Given the description of an element on the screen output the (x, y) to click on. 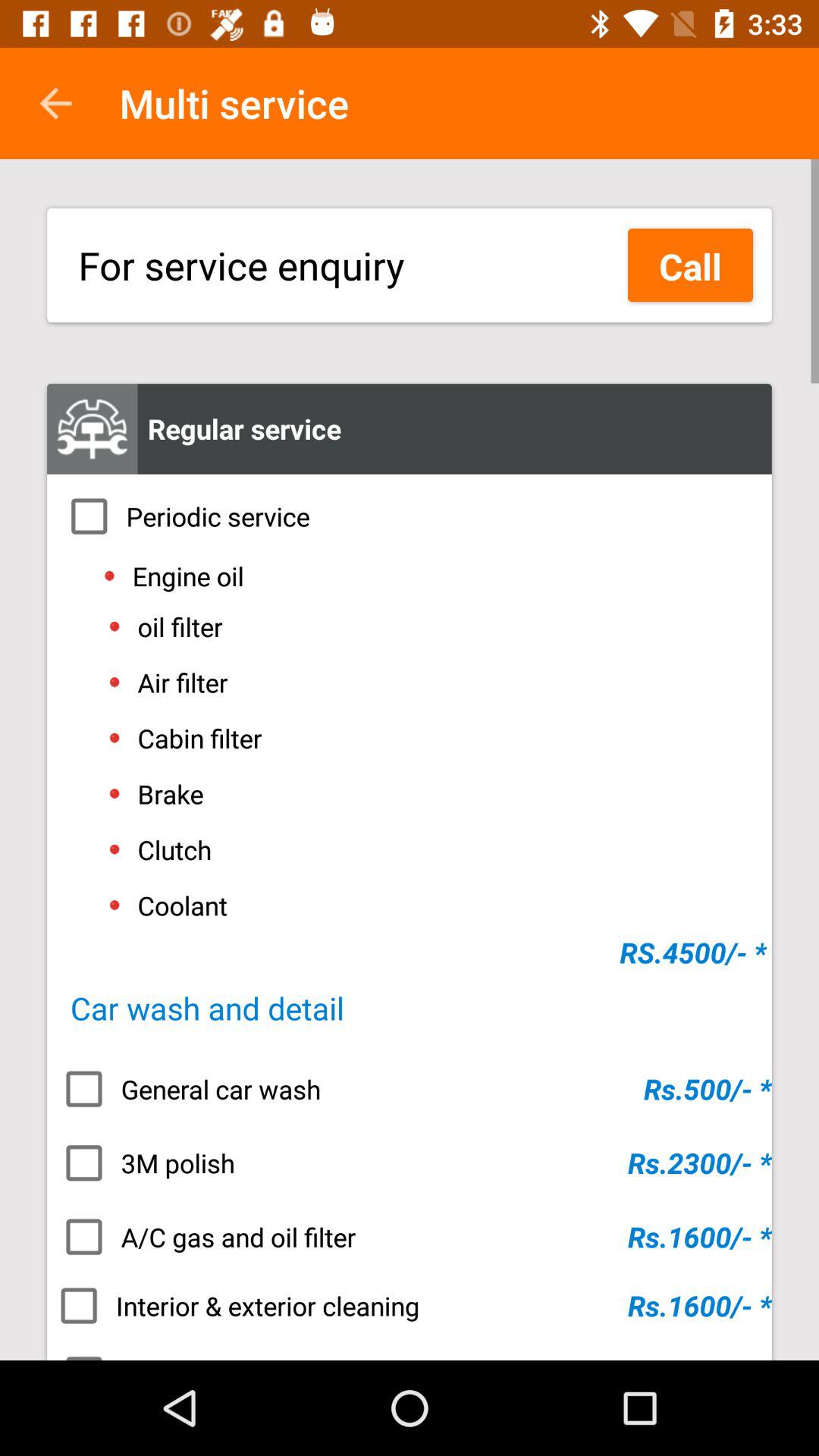
select the item below the a c gas (409, 1305)
